Given the description of an element on the screen output the (x, y) to click on. 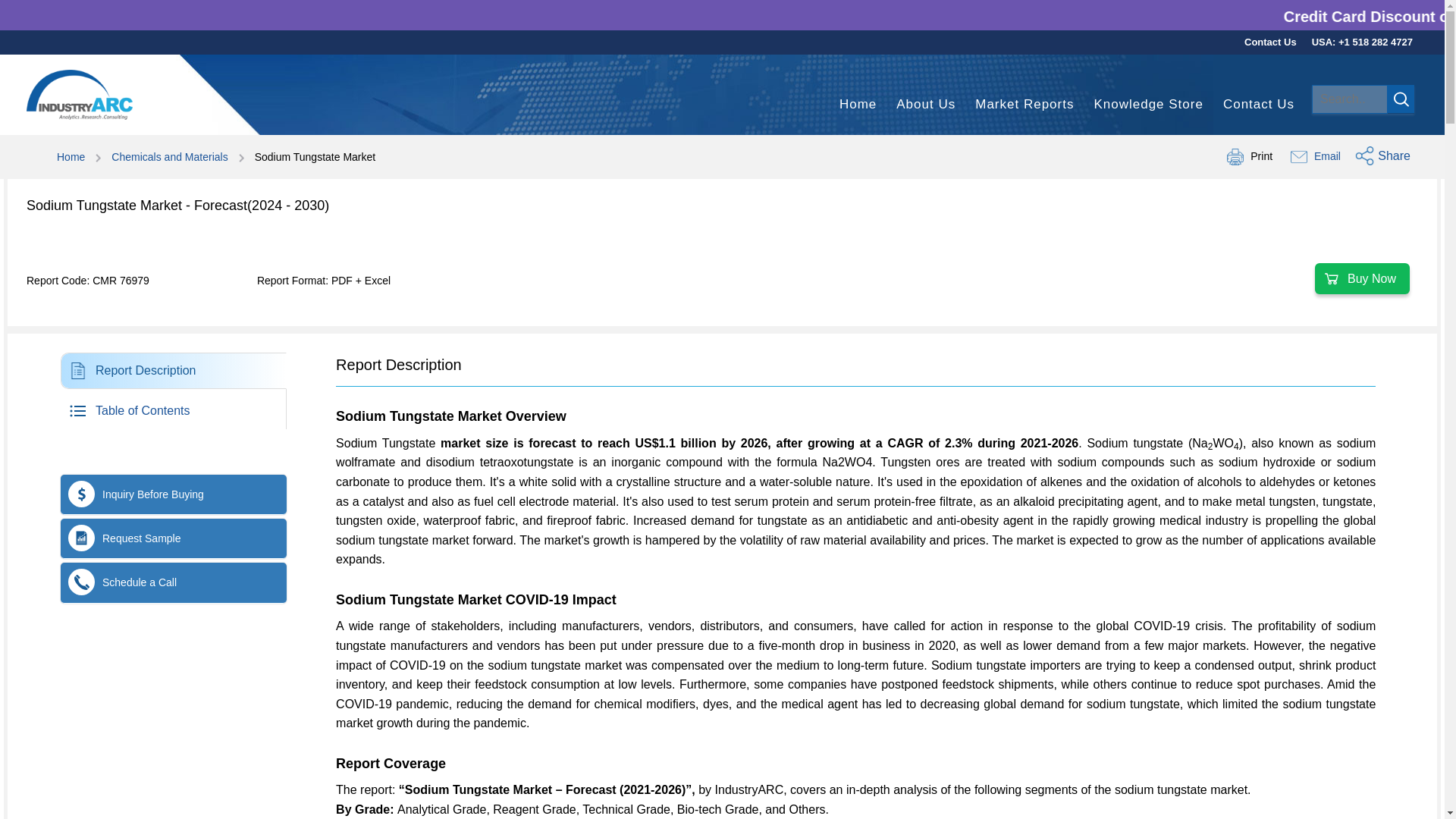
Home (857, 104)
About Us (925, 104)
Market Reports (158, 390)
Contact Us (1024, 104)
